Given the description of an element on the screen output the (x, y) to click on. 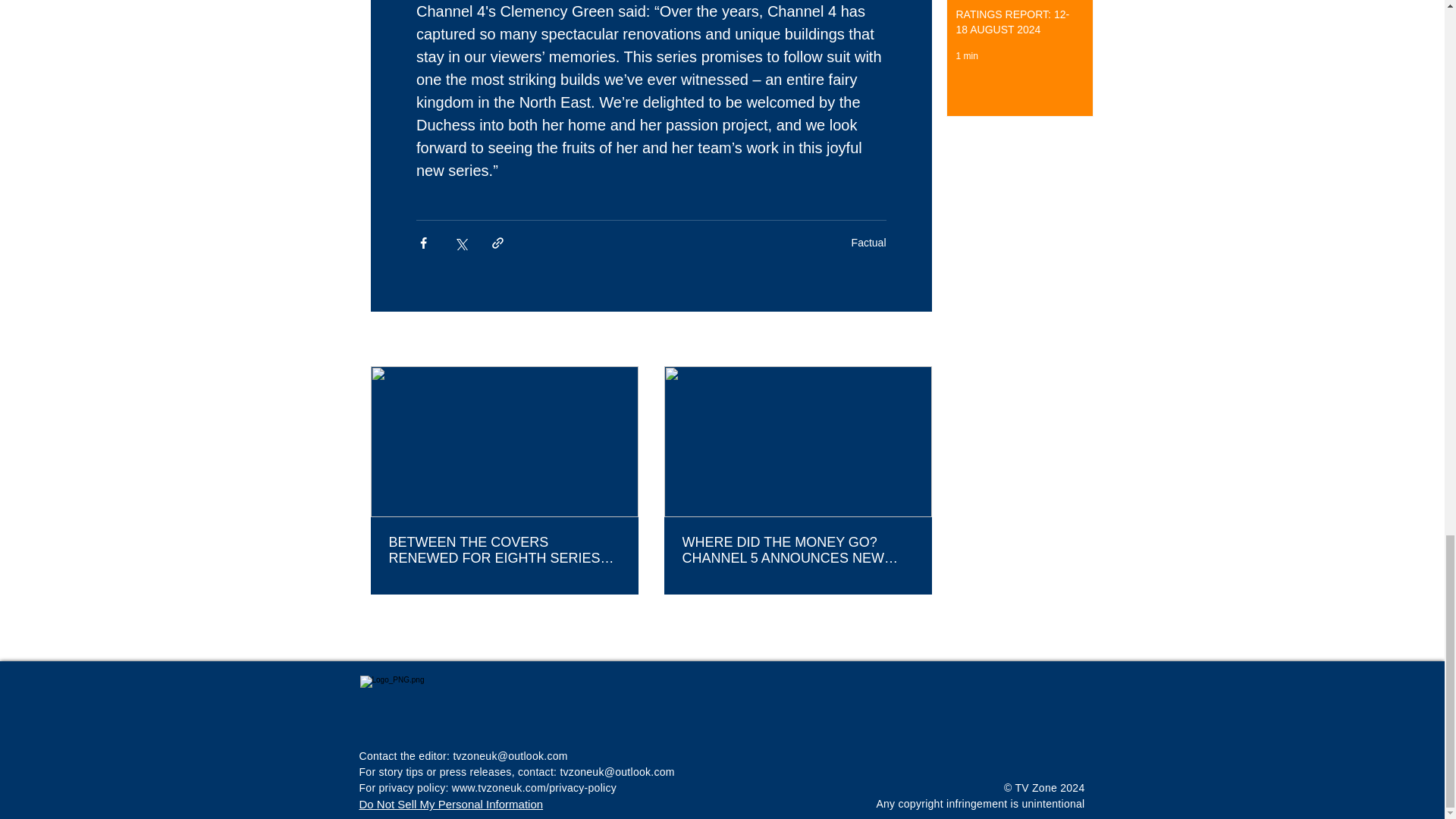
Factual (868, 242)
See All (914, 340)
BETWEEN THE COVERS RENEWED FOR EIGHTH SERIES ON BBC TWO (504, 550)
1 min (965, 55)
RATINGS REPORT: 12-18 AUGUST 2024 (1014, 25)
